Given the description of an element on the screen output the (x, y) to click on. 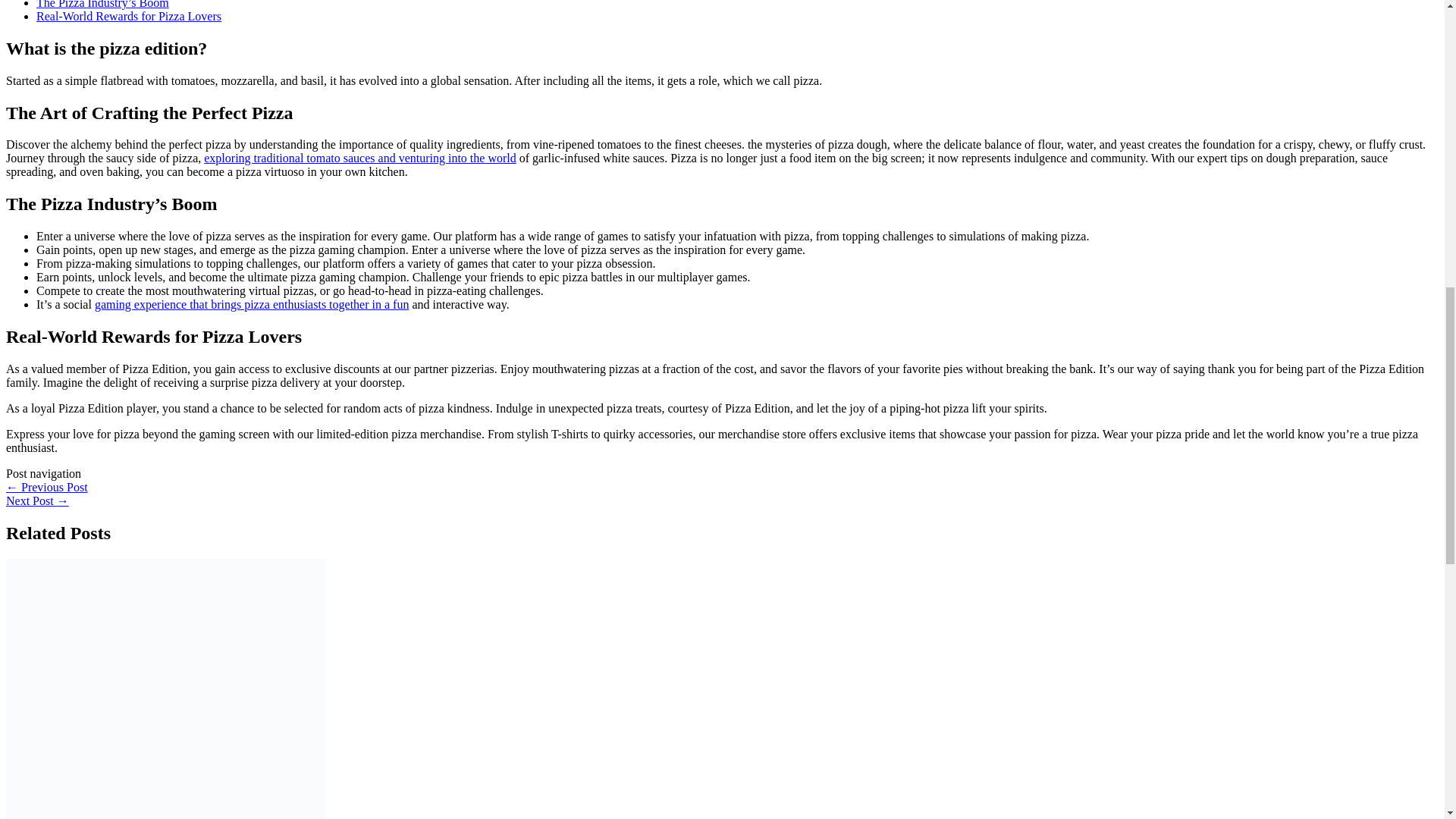
L-Shaped Desk Ideas: Finding The Right Design For Your Space (46, 486)
Real-World Rewards for Pizza Lovers (128, 15)
Real-World Rewards for Pizza Lovers (128, 15)
Budget-friendly accommodation options in Hobart (36, 500)
